Given the description of an element on the screen output the (x, y) to click on. 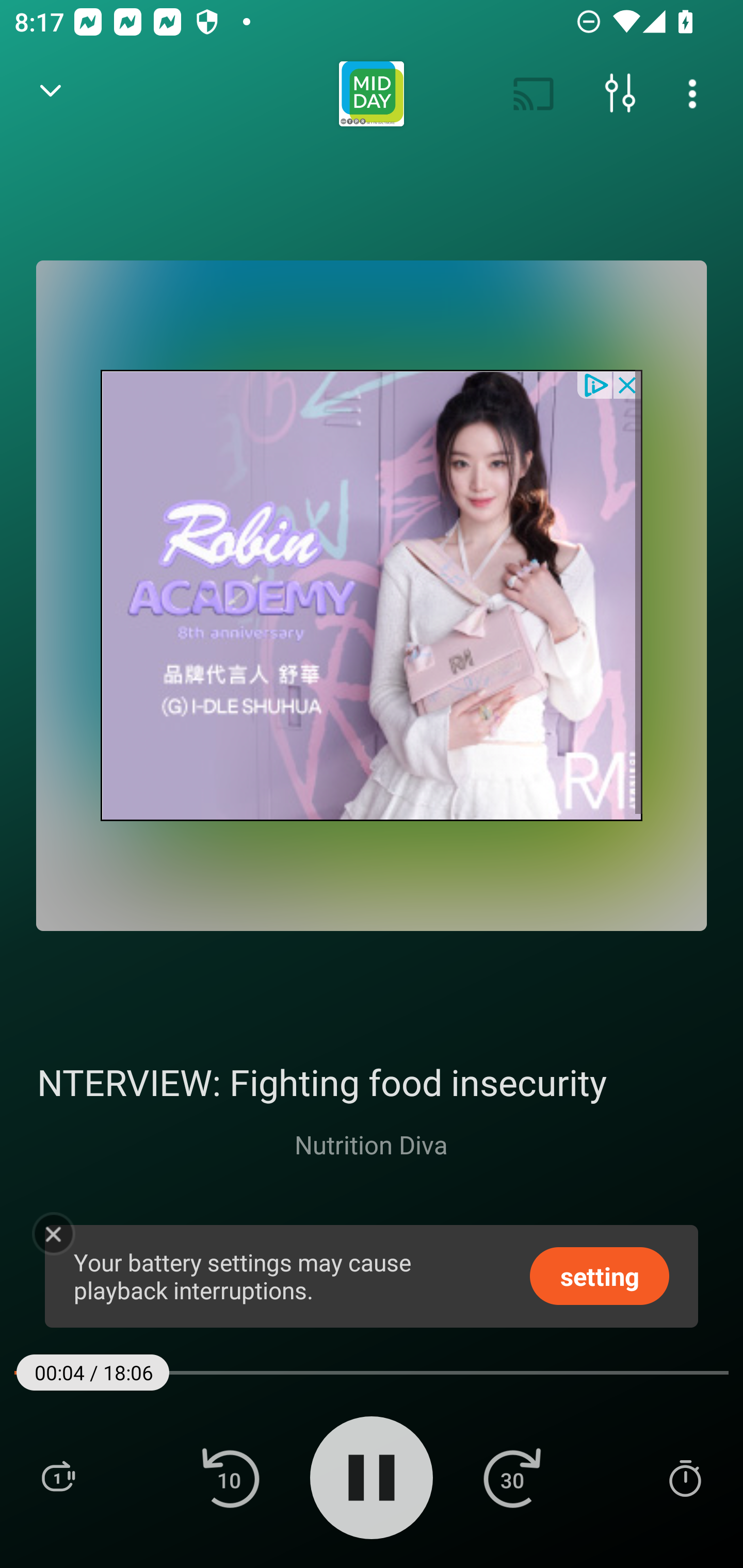
Cast. Disconnected (533, 93)
 Back (50, 94)
privacy_small (595, 384)
close_button (627, 384)
BONUS INTERVIEW: Fighting food insecurity (371, 1081)
Nutrition Diva (370, 1144)
setting (599, 1275)
 Playlist (57, 1477)
Sleep Timer  (684, 1477)
